Given the description of an element on the screen output the (x, y) to click on. 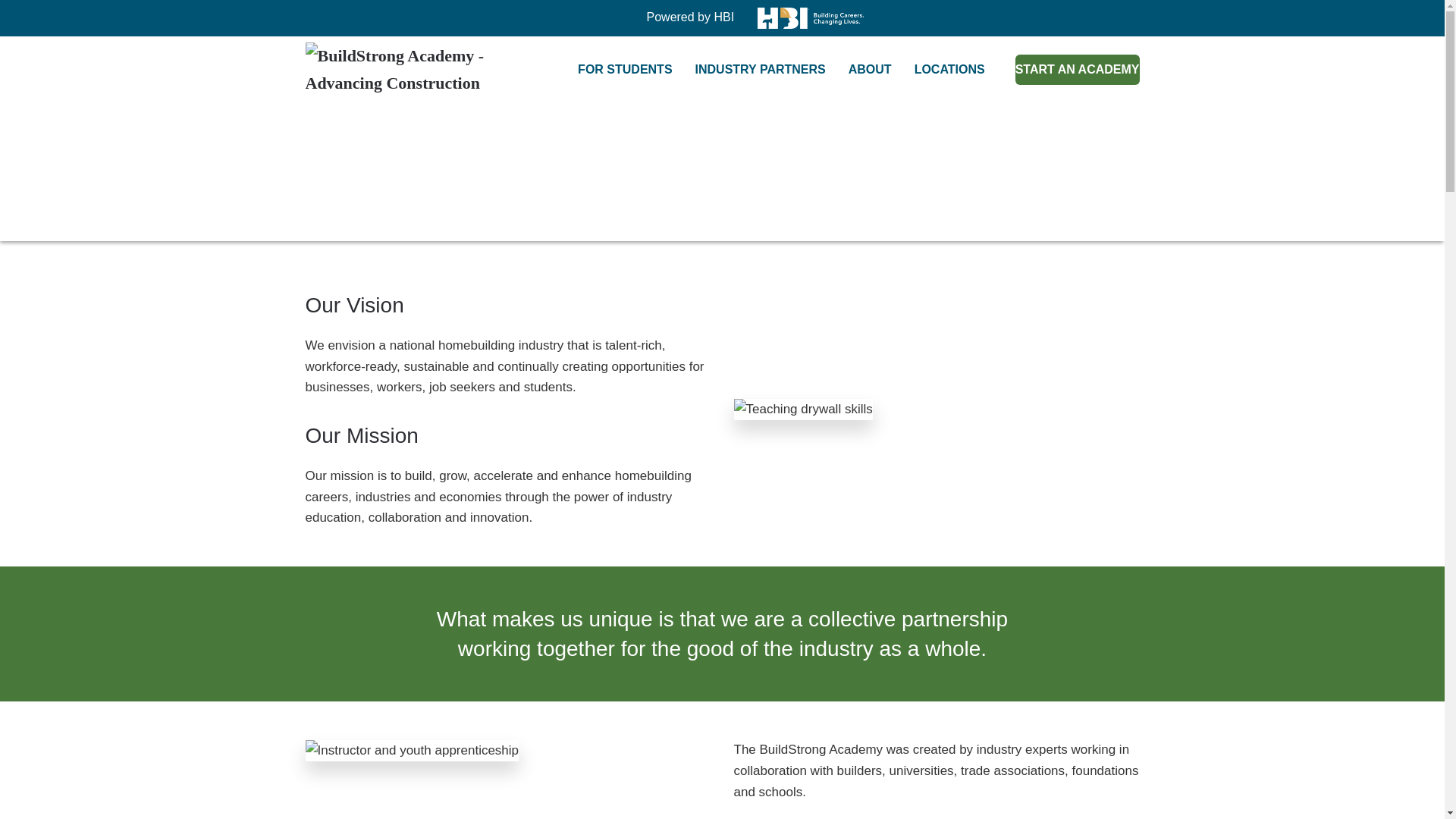
ABOUT (869, 69)
INDUSTRY PARTNERS (760, 69)
LOCATIONS (949, 69)
FOR STUDENTS (624, 69)
HBI (723, 16)
START AN ACADEMY (1077, 69)
